Given the description of an element on the screen output the (x, y) to click on. 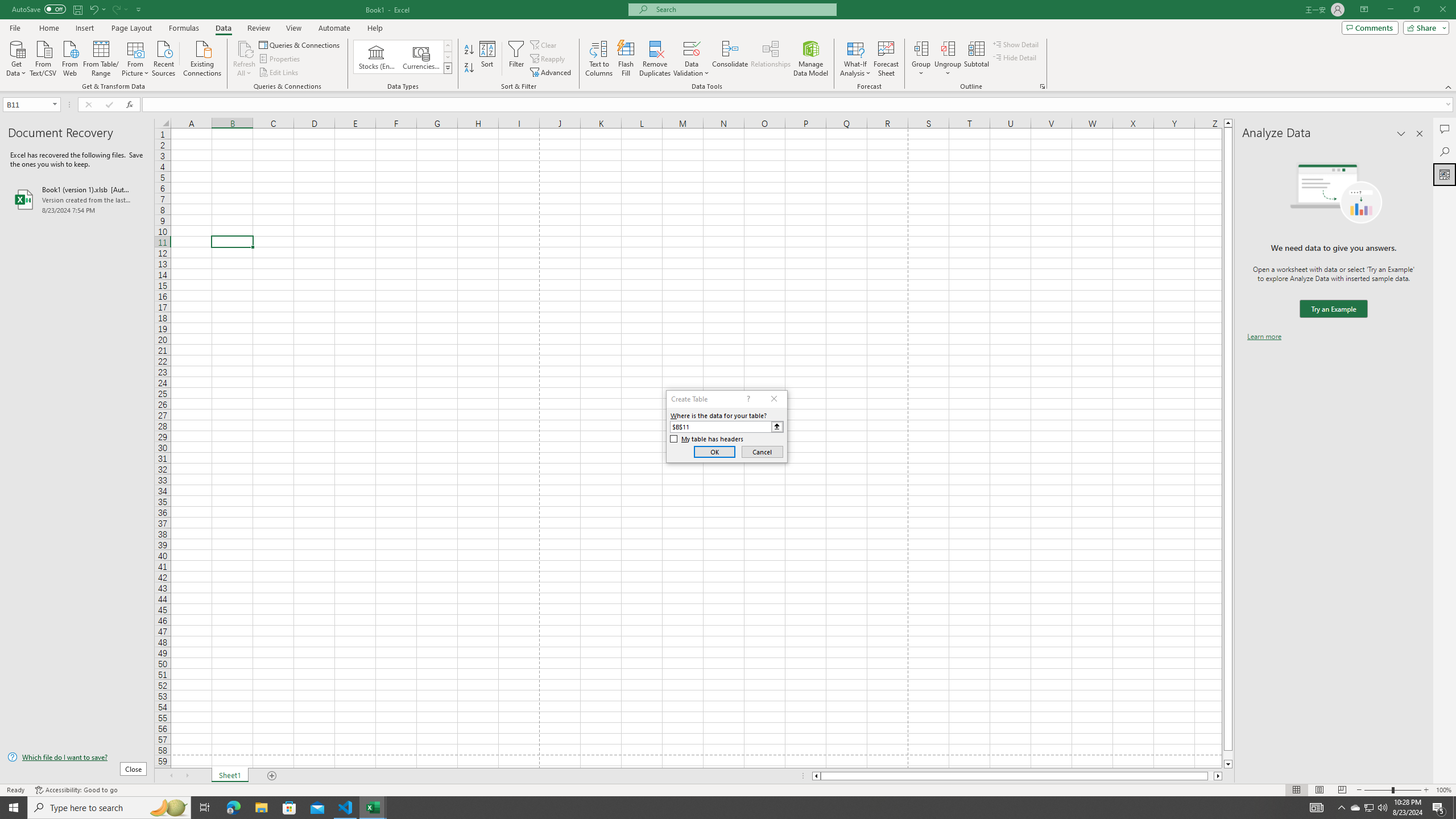
Subtotal (976, 58)
Remove Duplicates (654, 58)
Manage Data Model (810, 58)
Stocks (English) (375, 56)
Advanced... (551, 72)
From Web (69, 57)
